Given the description of an element on the screen output the (x, y) to click on. 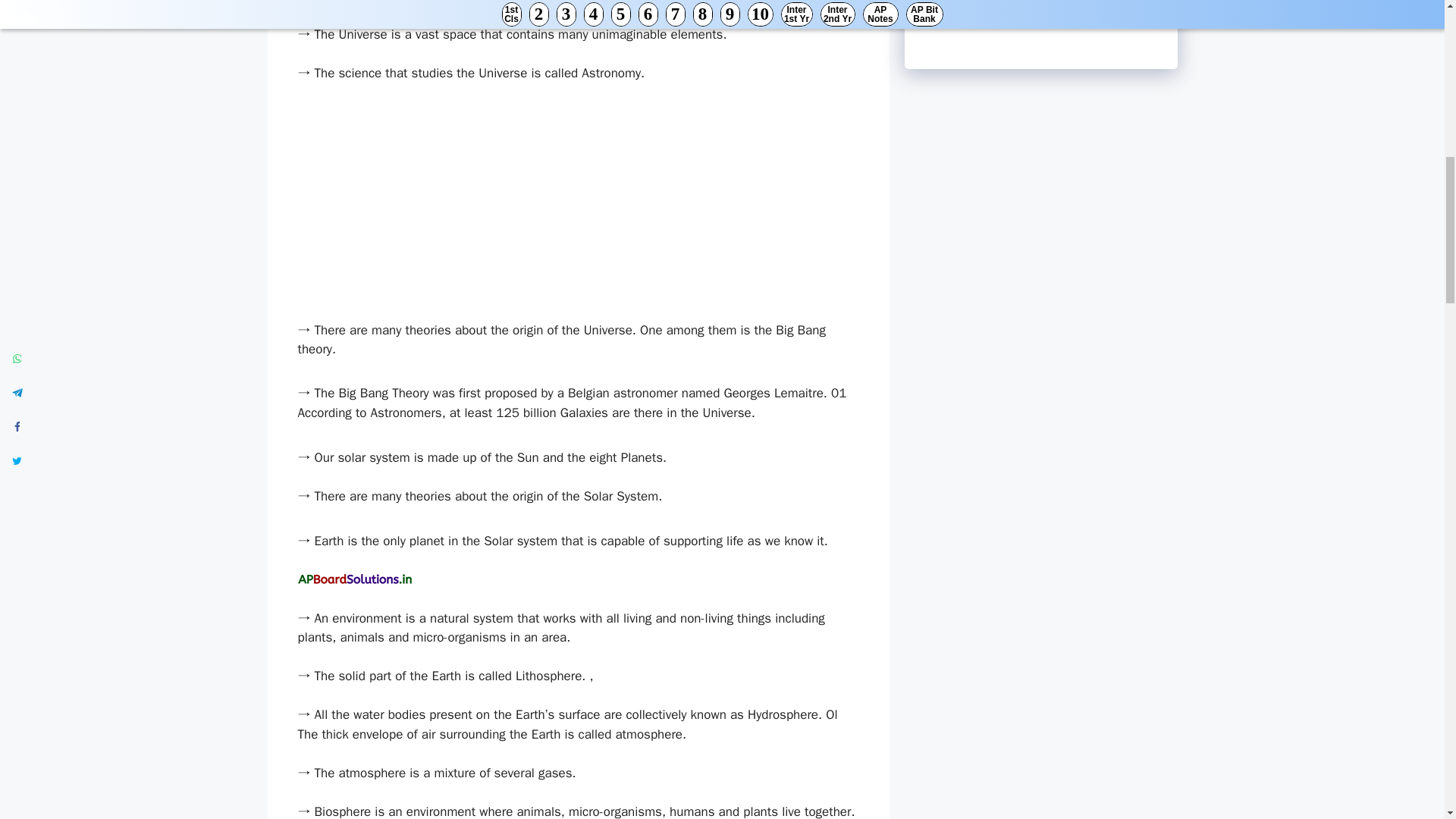
Advertisement (578, 208)
